Given the description of an element on the screen output the (x, y) to click on. 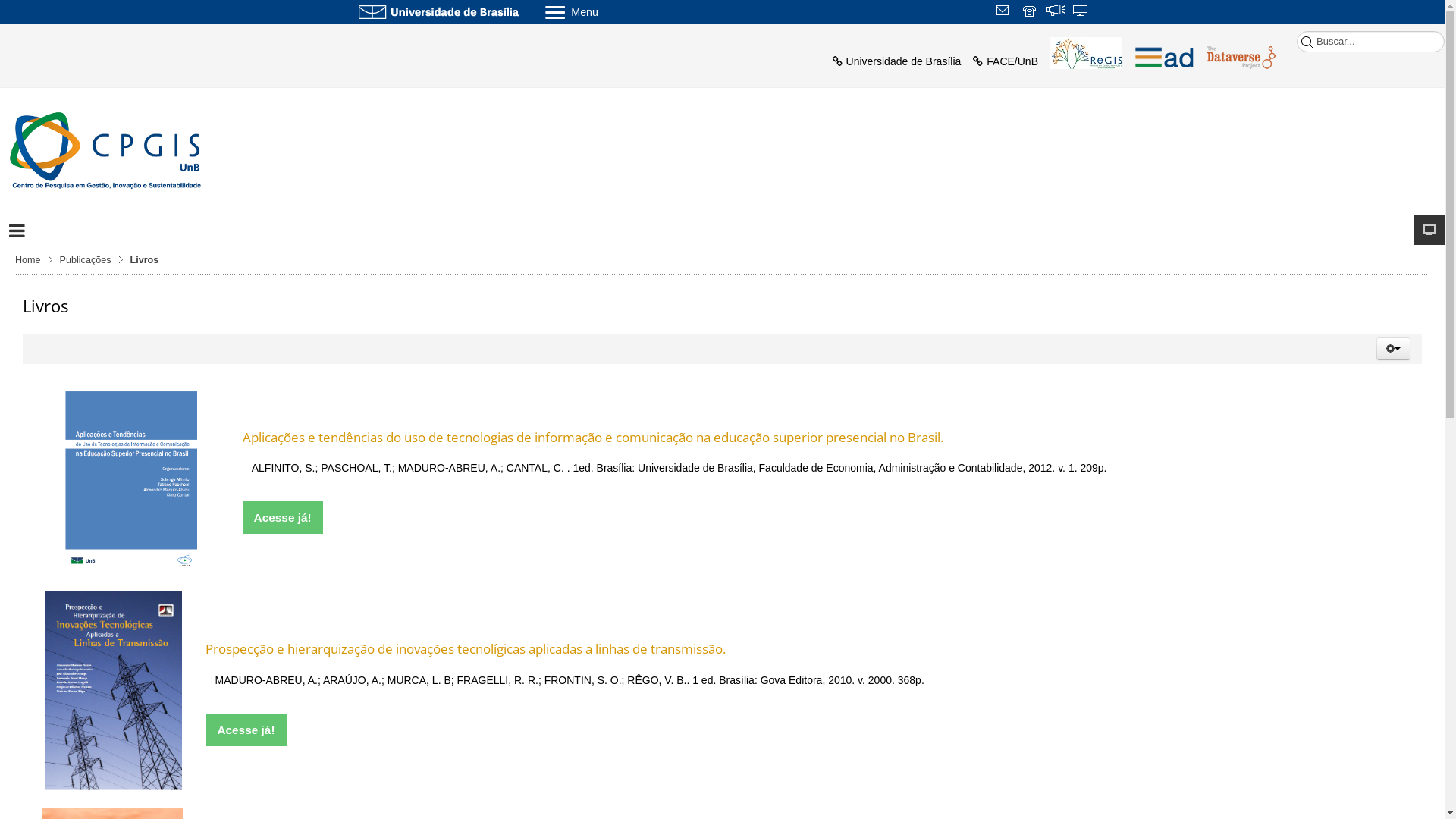
Menu Element type: text (610, 10)
FACE/UnB Element type: text (1005, 61)
  Element type: text (1030, 11)
Home Element type: text (33, 259)
Webmail Element type: hover (1004, 11)
Telefones da UnB Element type: hover (1030, 11)
  Element type: text (1004, 11)
  Element type: text (1055, 11)
Sistemas Element type: hover (1081, 11)
Ir para o Portal da UnB Element type: hover (438, 10)
Fala.BR Element type: hover (1055, 11)
  Element type: text (1081, 11)
